Given the description of an element on the screen output the (x, y) to click on. 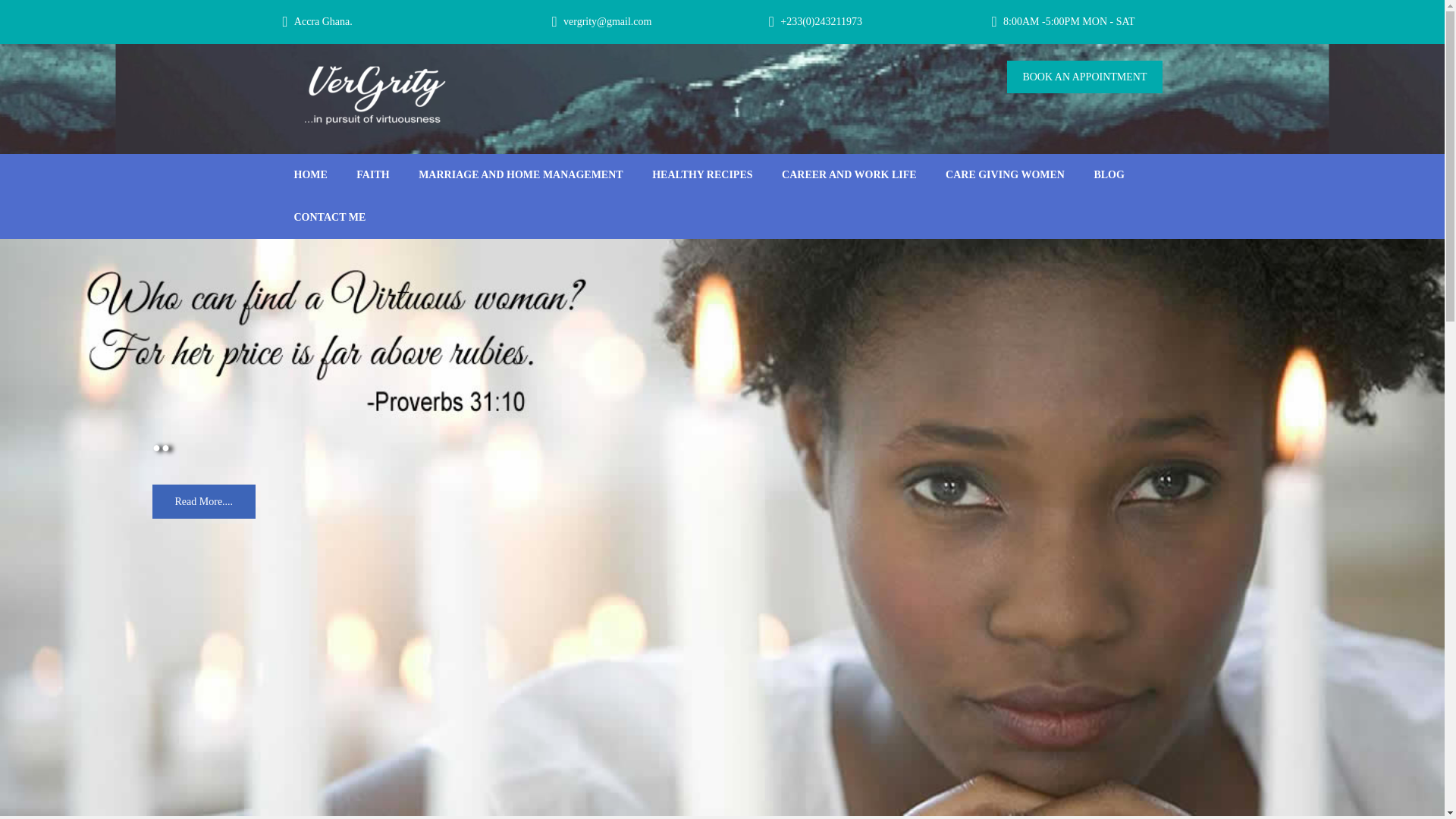
MARRIAGE AND HOME MANAGEMENT (520, 174)
BOOK AN APPOINTMENT (1084, 76)
CONTACT ME (329, 217)
Read More.... (203, 501)
VerGrity (317, 149)
.. (160, 438)
CARE GIVING WOMEN (1004, 174)
FAITH (372, 174)
BLOG (1108, 174)
CAREER AND WORK LIFE (849, 174)
HOME (309, 174)
HEALTHY RECIPES (701, 174)
